Given the description of an element on the screen output the (x, y) to click on. 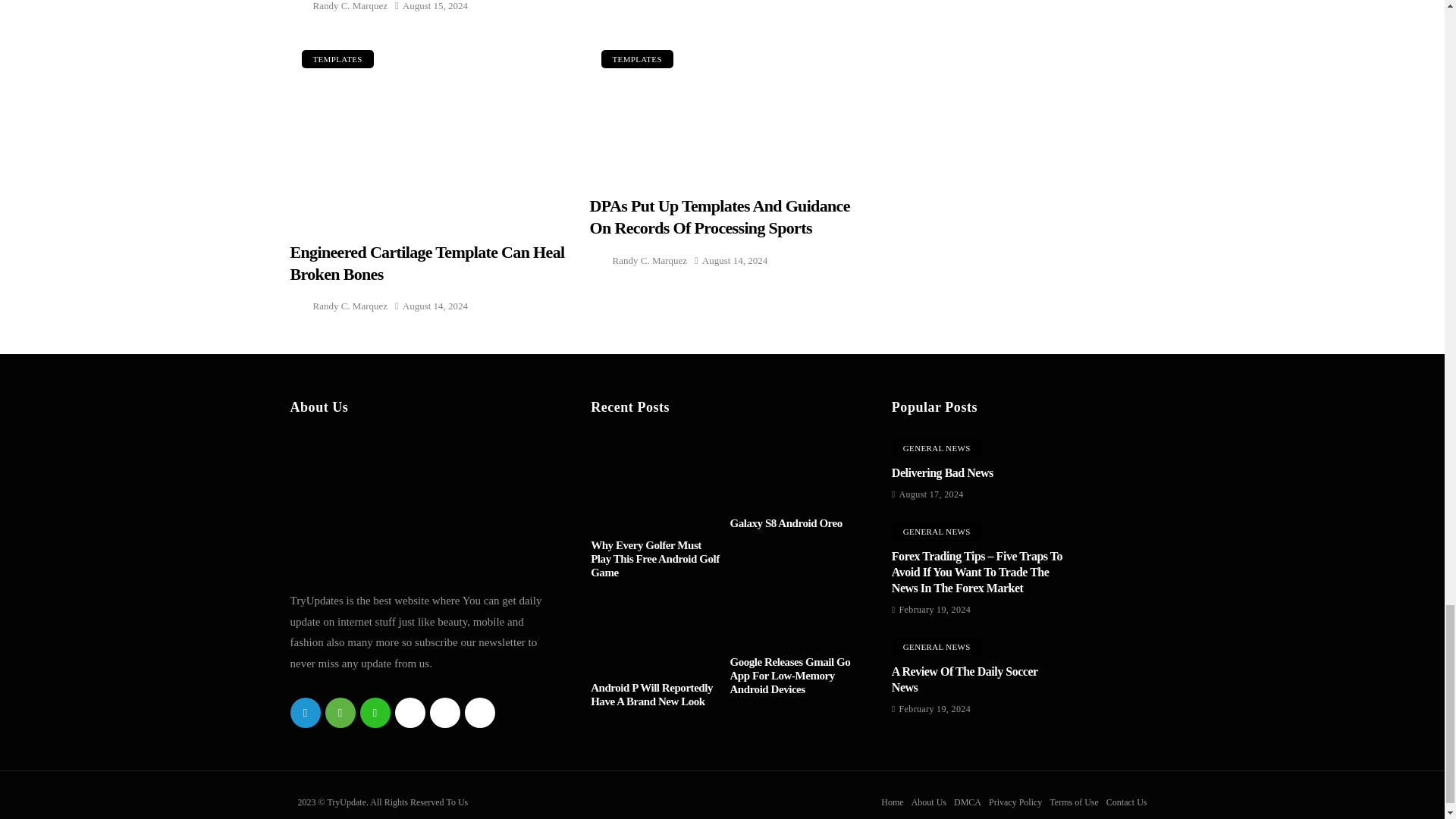
Posts by Randy C. Marquez (350, 7)
Posts by Randy C. Marquez (649, 260)
Engineered Cartilage Template can Heal Broken Bones (427, 130)
Posts by Randy C. Marquez (350, 305)
